Given the description of an element on the screen output the (x, y) to click on. 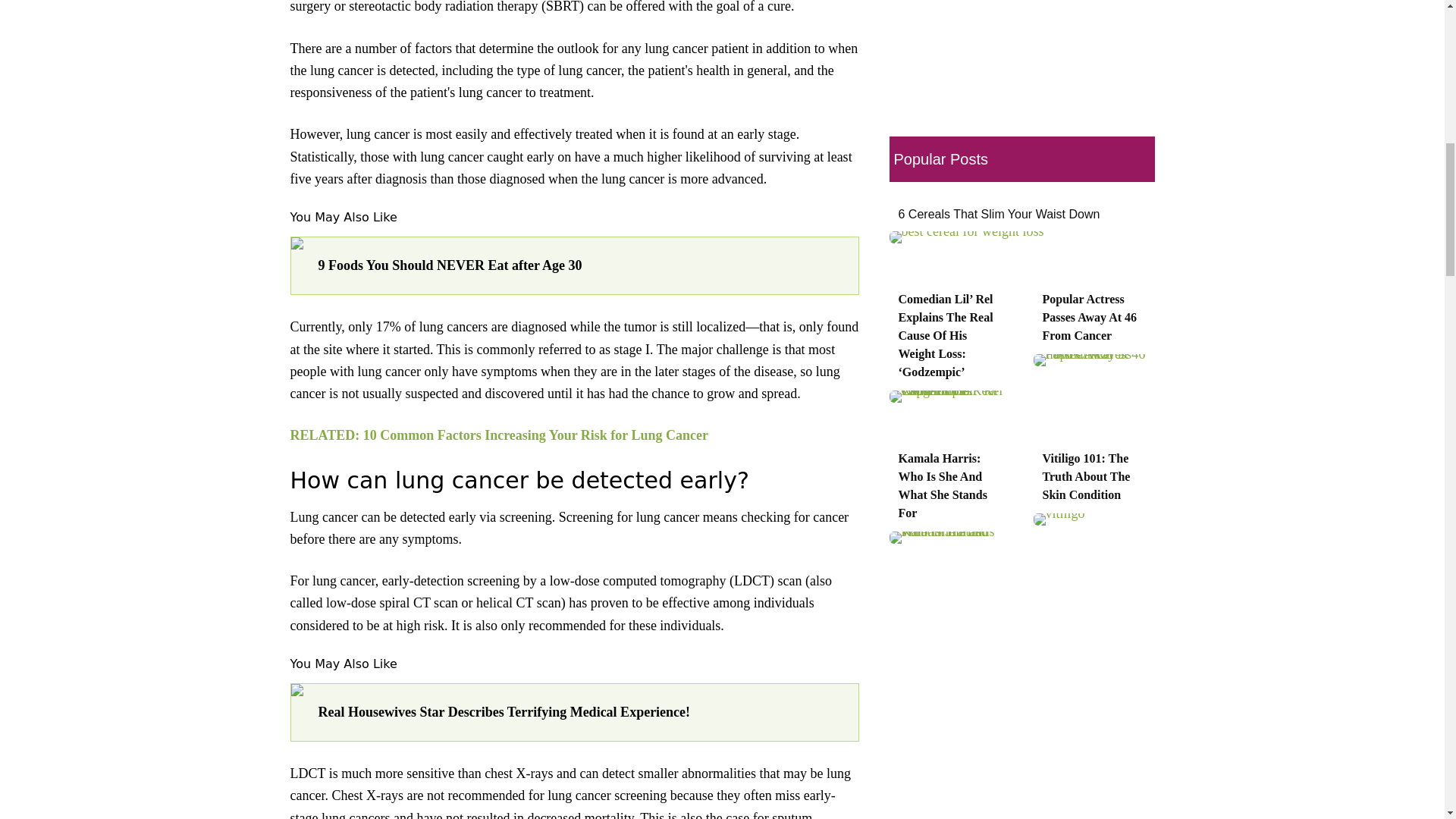
9 Foods You Should NEVER Eat after Age 30 (580, 265)
